Given the description of an element on the screen output the (x, y) to click on. 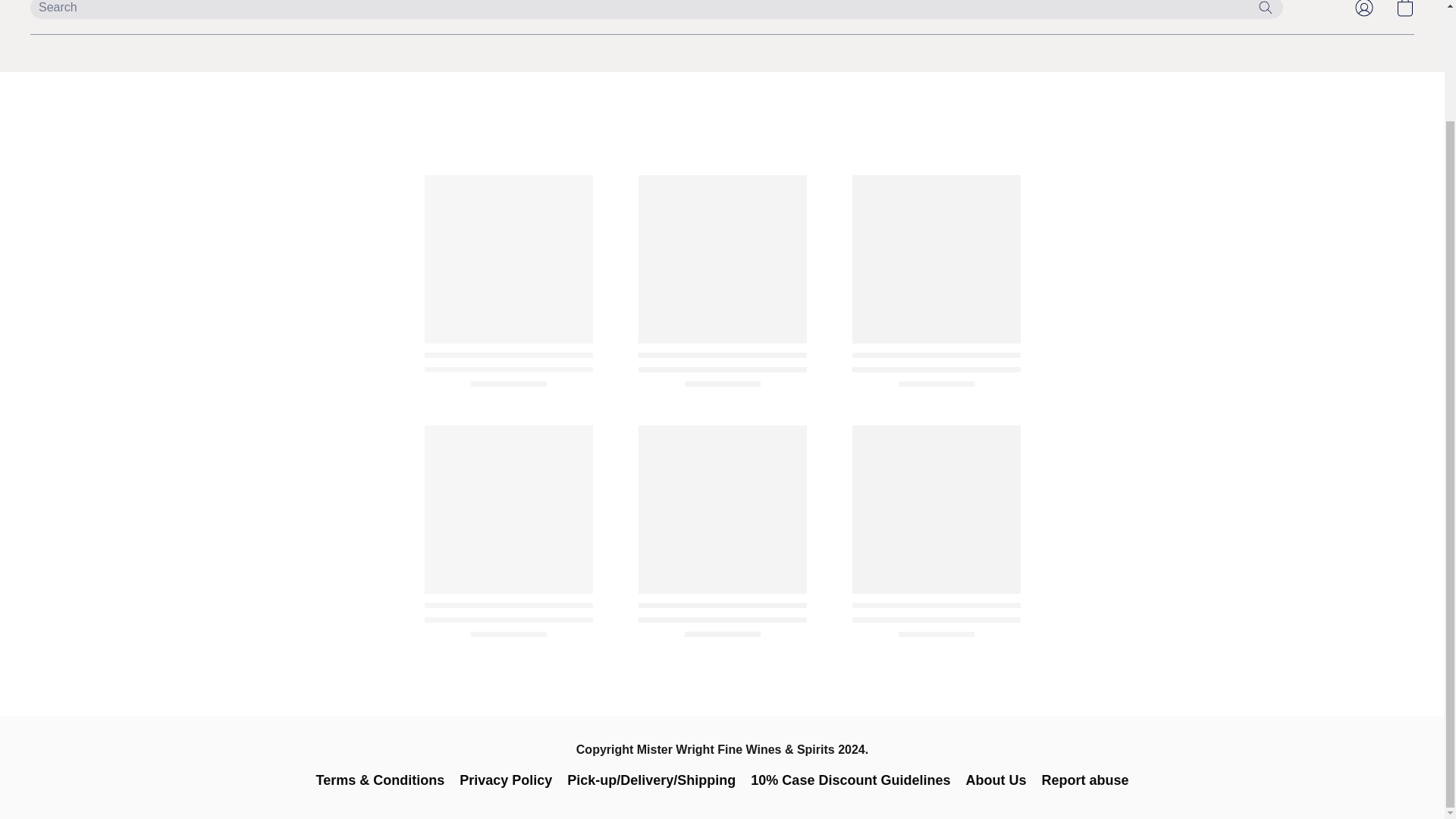
Go to your shopping cart (1404, 12)
Report abuse (1084, 780)
About Us (995, 780)
Privacy Policy (505, 780)
